Given the description of an element on the screen output the (x, y) to click on. 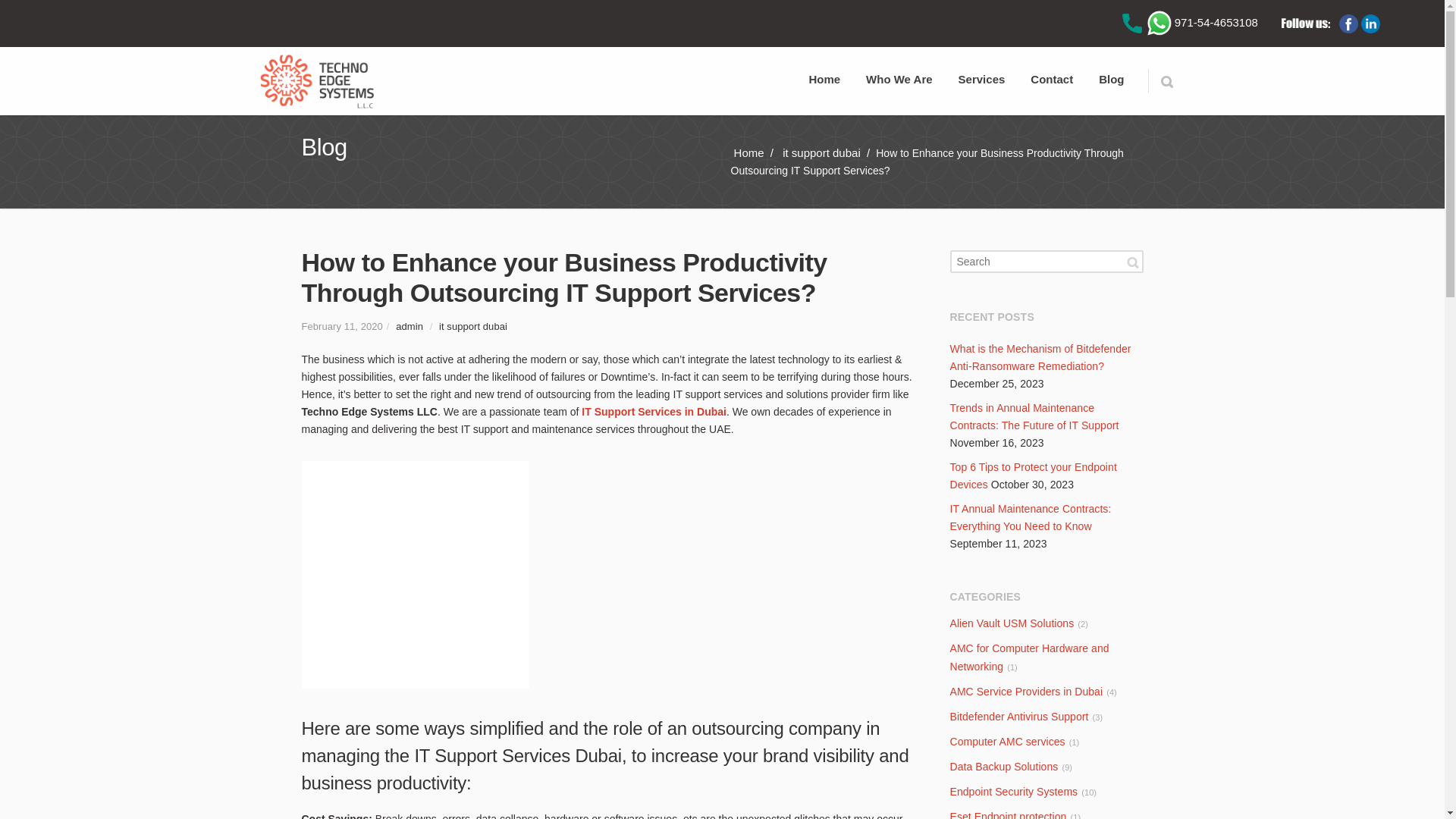
Who We Are (899, 75)
IT Support Services in Dubai (415, 574)
Search (1166, 80)
SEARCH (1132, 262)
 971-54-4653108 (1202, 21)
it support dubai (820, 152)
it support dubai (472, 326)
IT Support Services in Dubai (653, 411)
Home (748, 152)
